Given the description of an element on the screen output the (x, y) to click on. 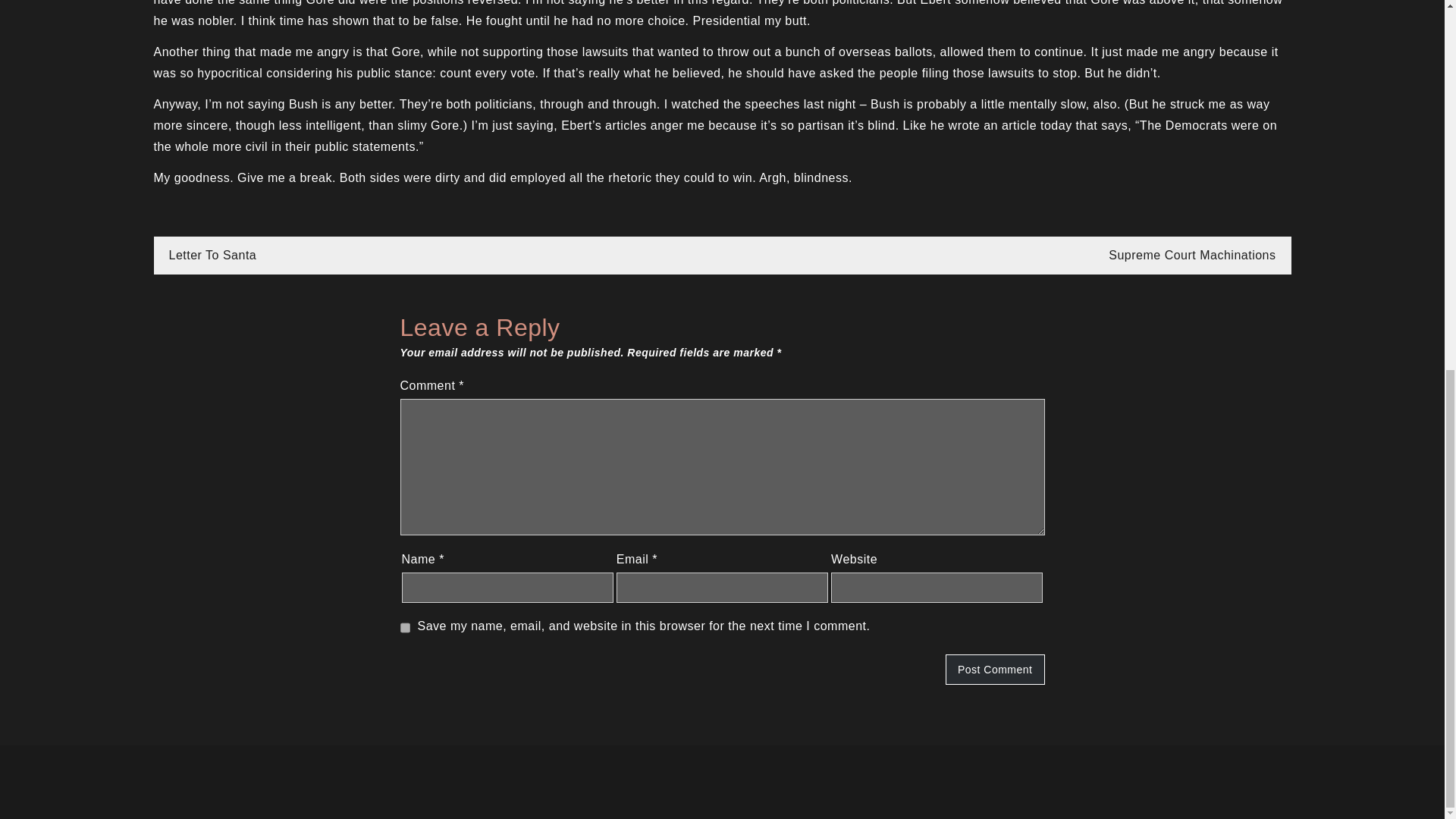
Letter To Santa (212, 254)
Post Comment (994, 669)
Supreme Court Machinations (1191, 254)
Post Comment (994, 669)
